Given the description of an element on the screen output the (x, y) to click on. 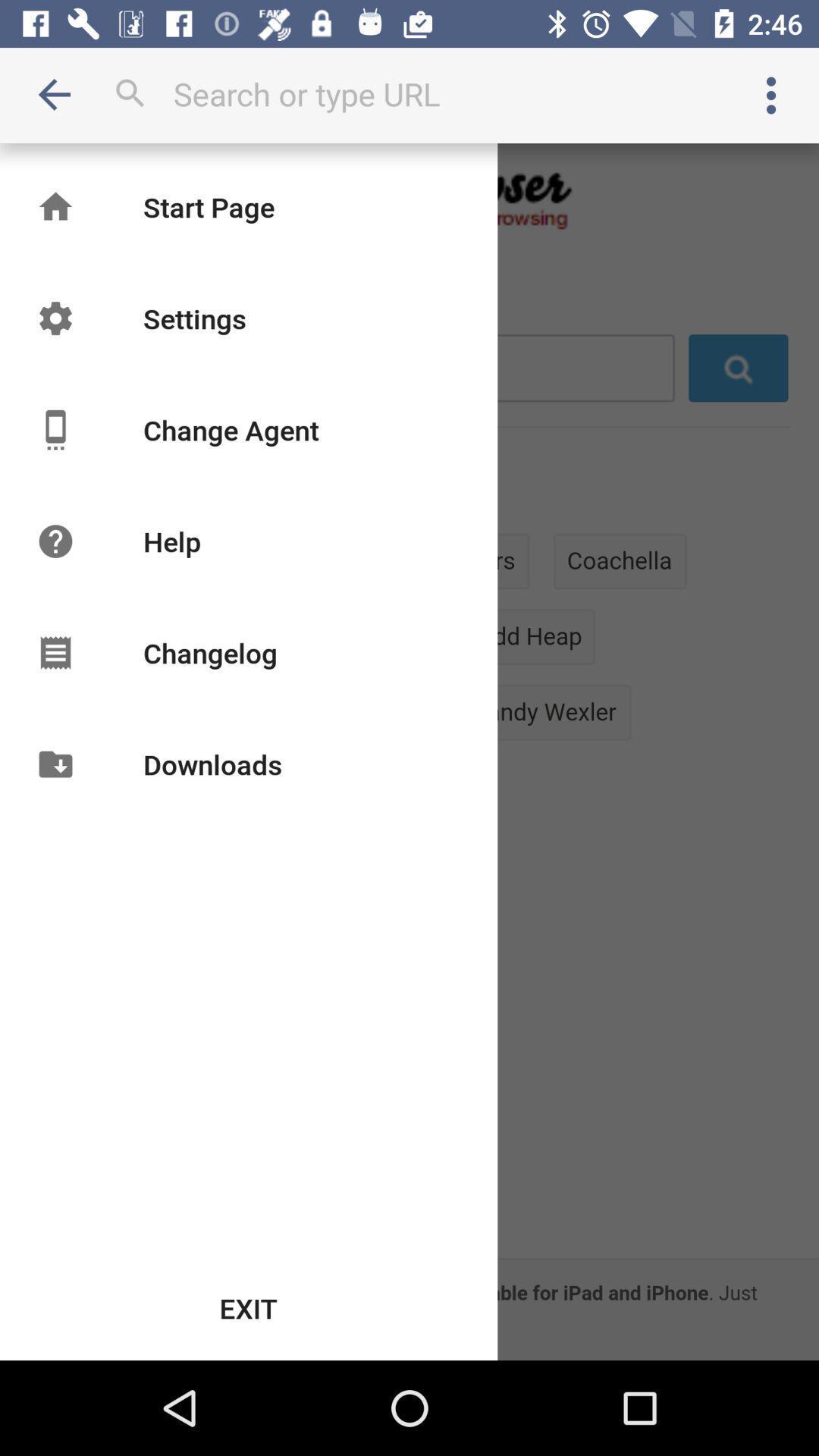
open item below the changelog (212, 764)
